Given the description of an element on the screen output the (x, y) to click on. 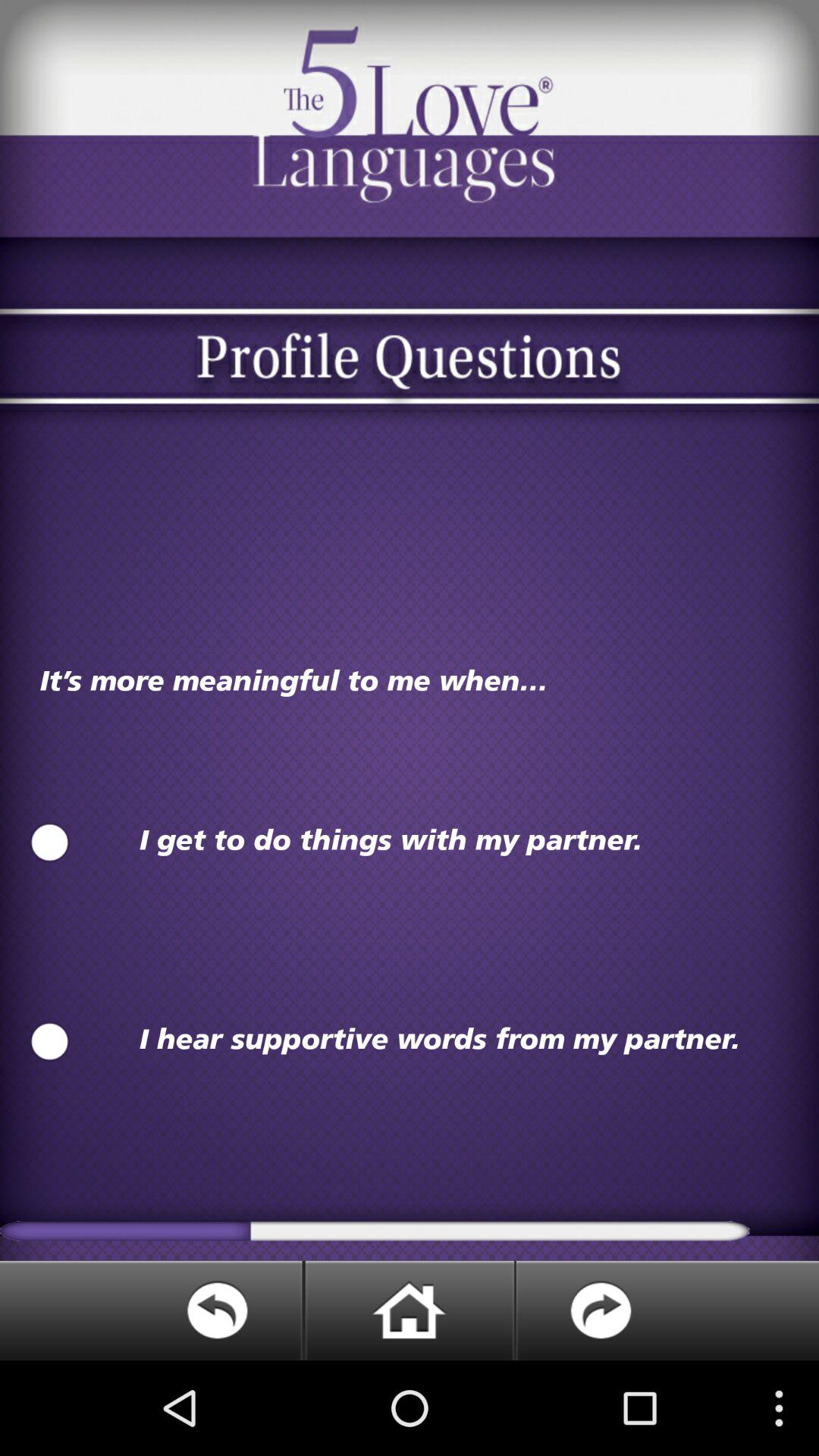
home button (409, 1310)
